Given the description of an element on the screen output the (x, y) to click on. 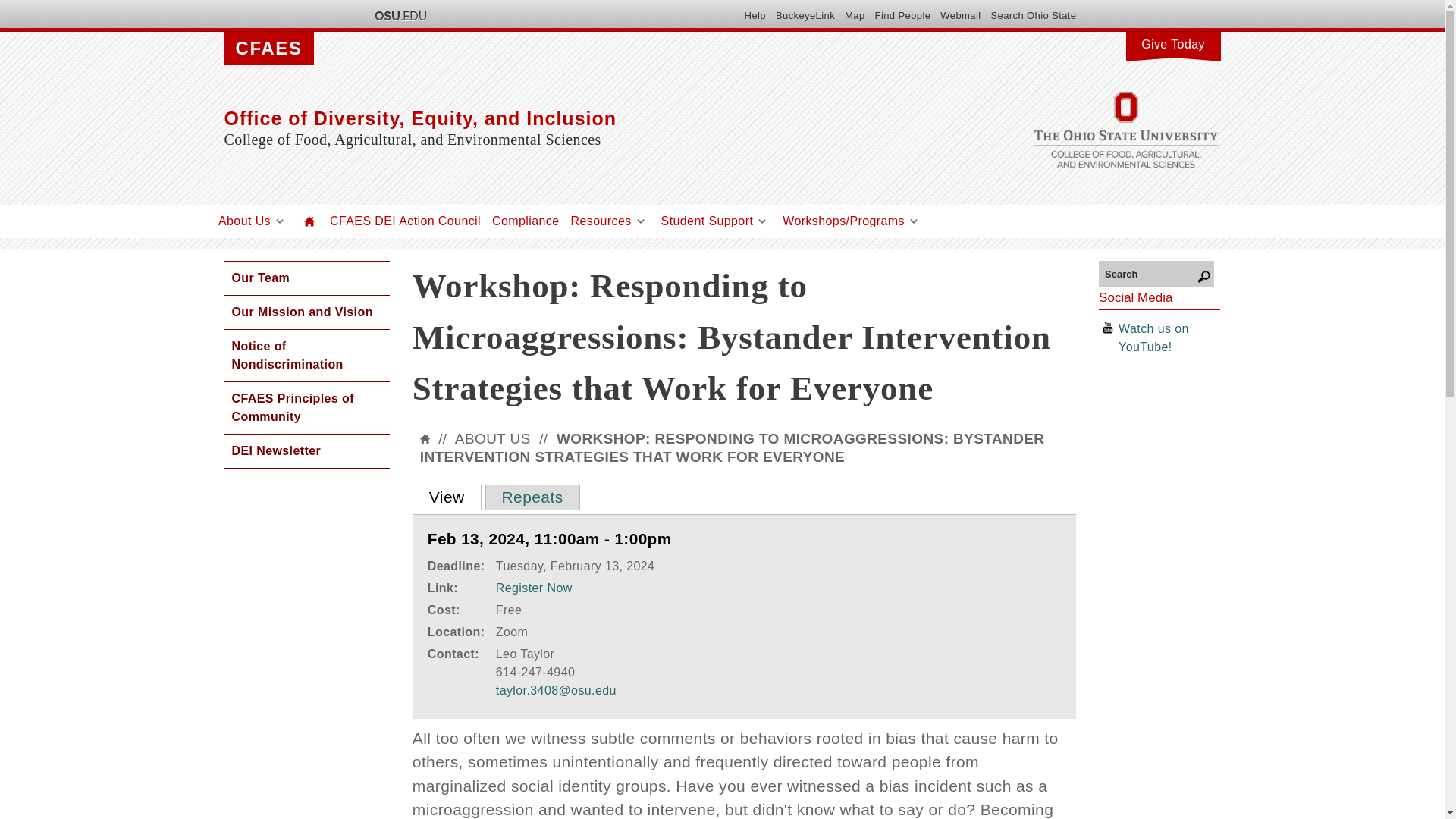
CFAES DEI Action Council (405, 221)
Home (308, 221)
BuckeyeLink (805, 15)
Search Ohio State (1032, 15)
CFAES (269, 48)
Compliance (525, 221)
Search (1155, 273)
Skip to main content (686, 1)
Help (754, 15)
Webmail (959, 15)
Office of Diversity, Equity, and Inclusion (572, 117)
Home (572, 117)
Give Today (1172, 42)
The Ohio State University (399, 15)
Map (854, 15)
